Given the description of an element on the screen output the (x, y) to click on. 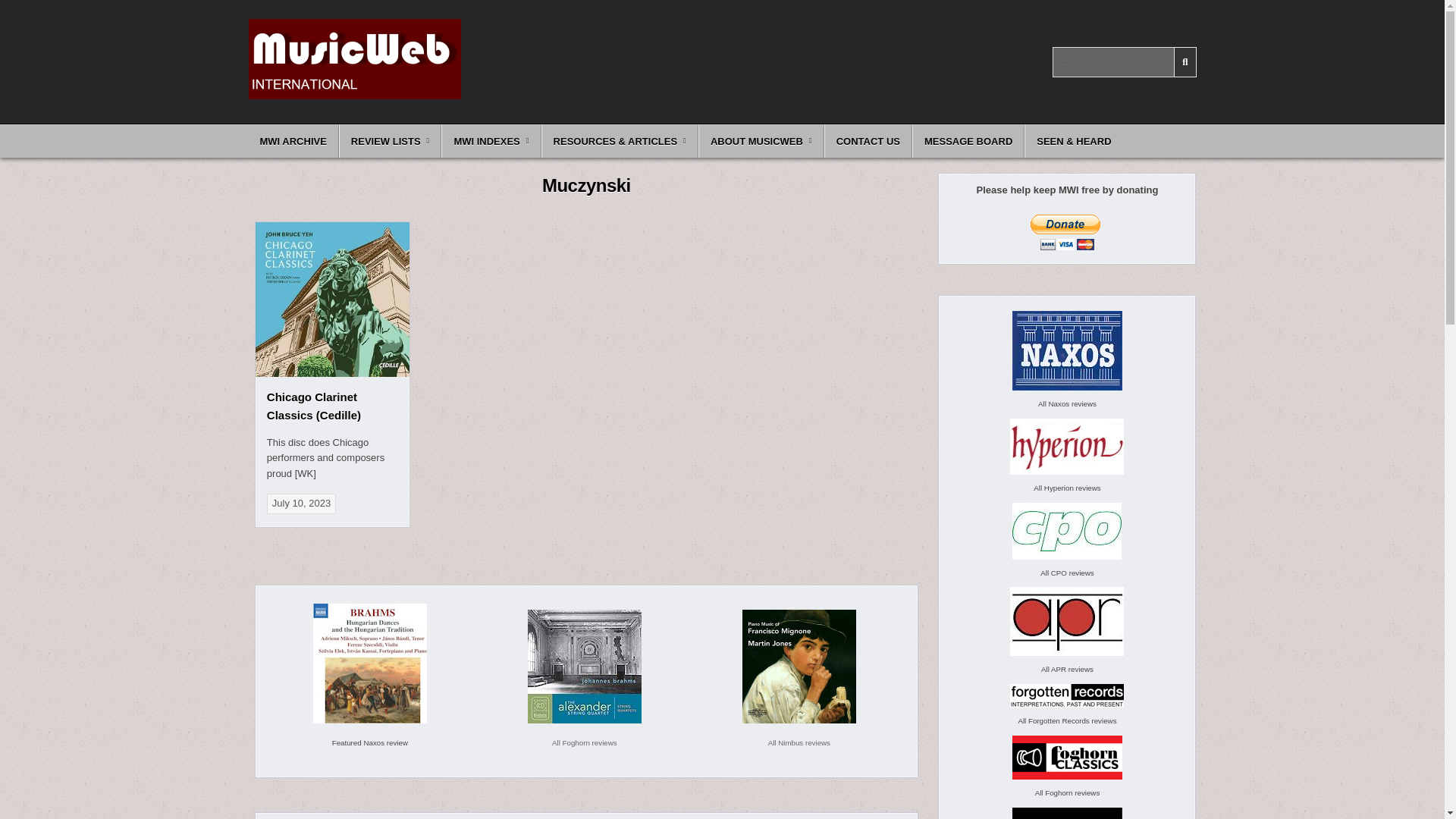
MWI INDEXES (490, 141)
ABOUT MUSICWEB (761, 141)
MESSAGE BOARD (968, 141)
CONTACT US (868, 141)
MWI ARCHIVE (293, 141)
PayPal - The safer, easier way to pay online. (1065, 232)
REVIEW LISTS (390, 141)
MusicWeb International (333, 115)
